Given the description of an element on the screen output the (x, y) to click on. 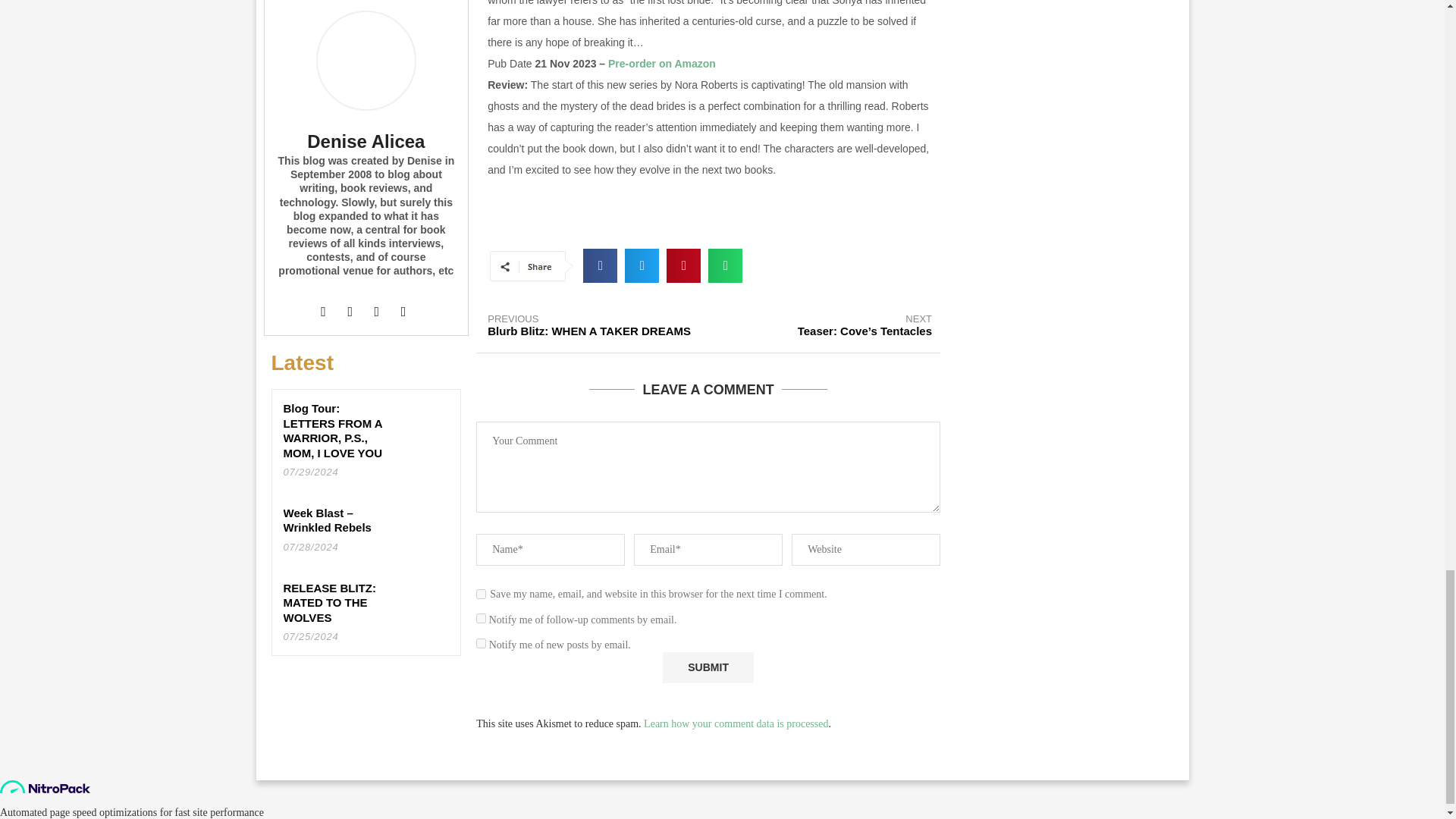
yes (481, 593)
Submit (708, 667)
subscribe (481, 618)
subscribe (481, 643)
